Given the description of an element on the screen output the (x, y) to click on. 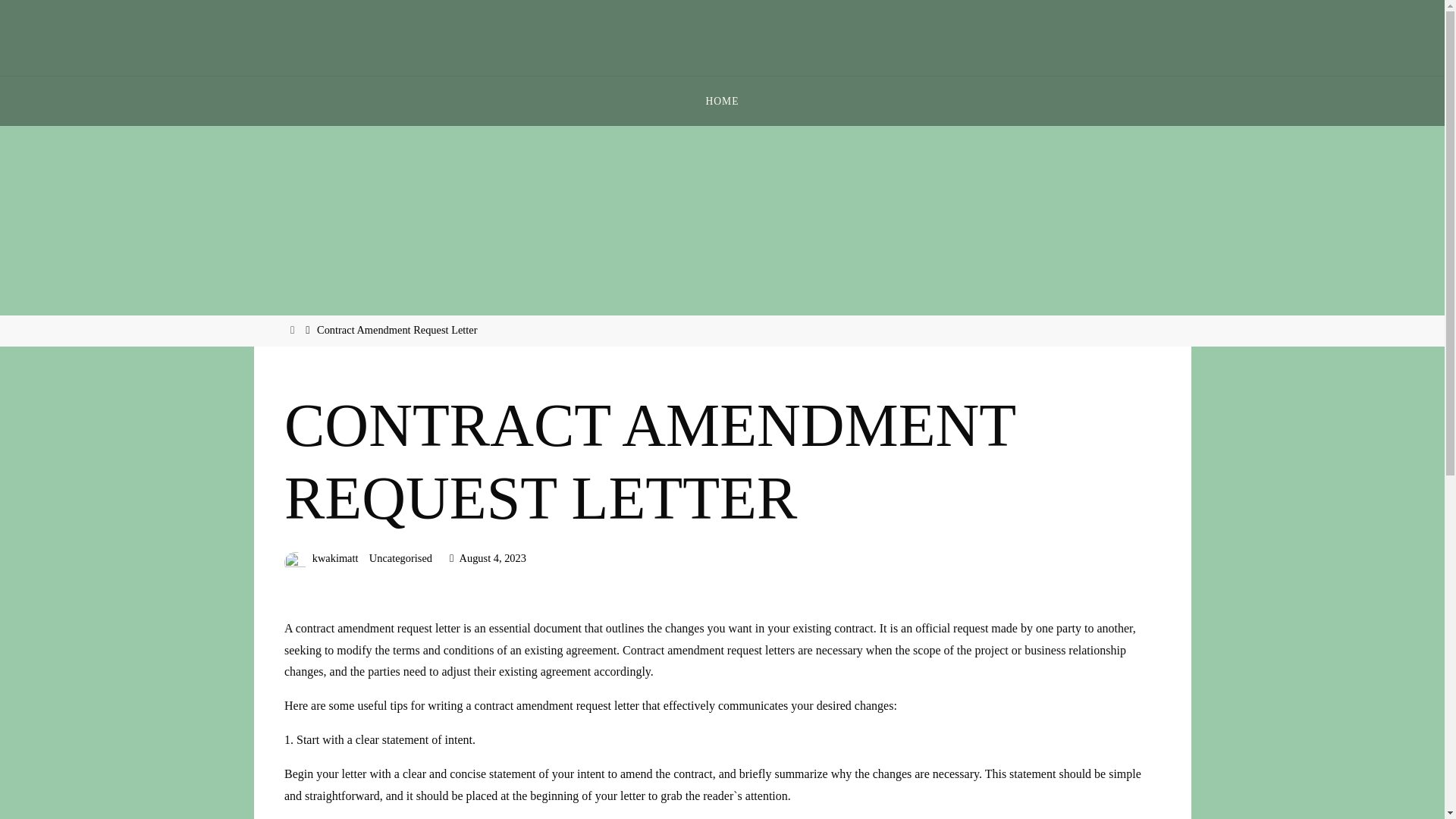
View all posts by kwakimatt (333, 558)
kwakimatt (333, 558)
HOME (721, 101)
Home (293, 329)
Home (293, 329)
